Given the description of an element on the screen output the (x, y) to click on. 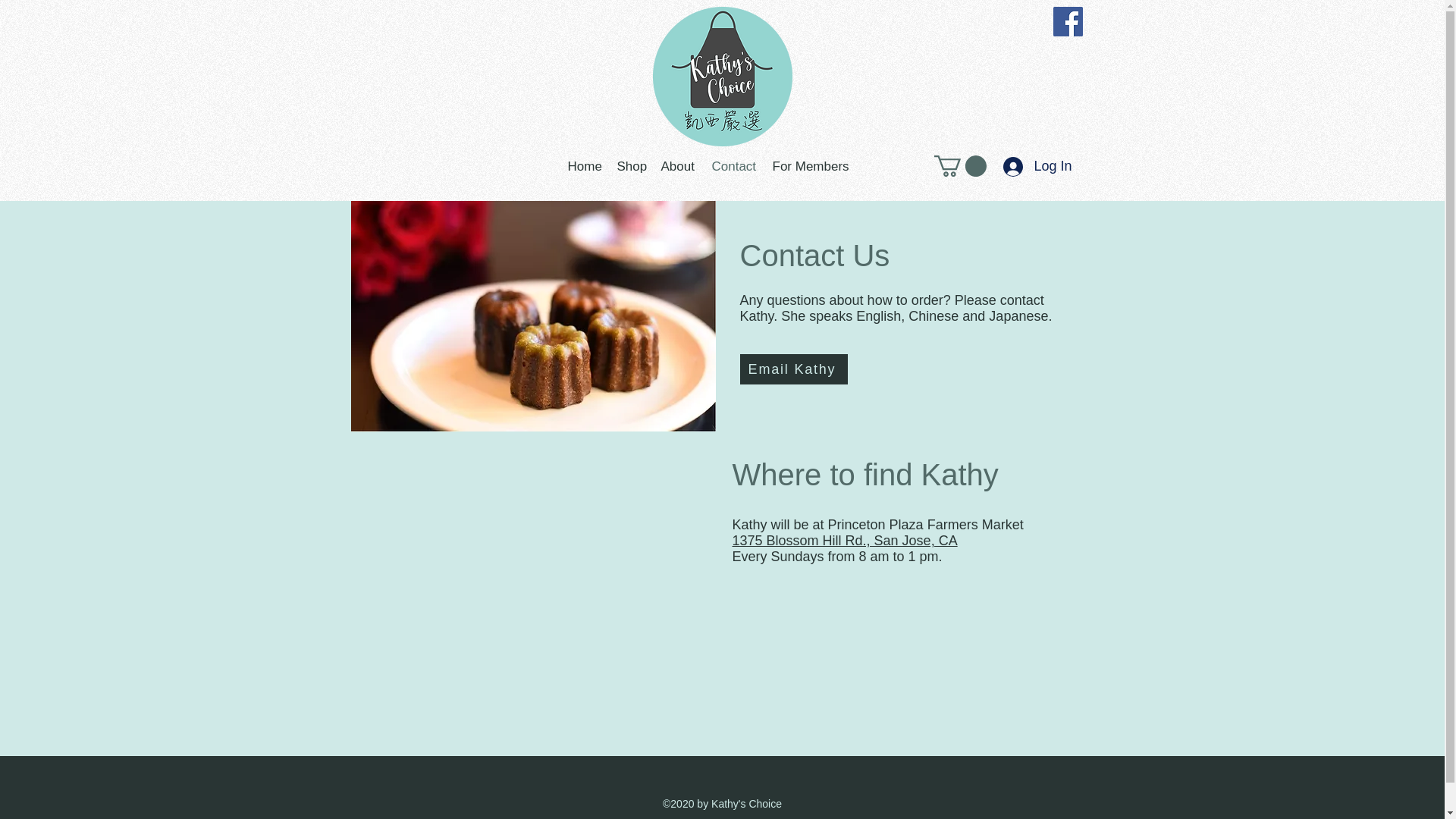
Home (583, 165)
Email Kathy (793, 368)
Shop (631, 165)
For Members (809, 165)
Log In (1036, 166)
Contact (733, 165)
About (678, 165)
1375 Blossom Hill Rd., San Jose, CA (845, 540)
logo-web-2.png (722, 76)
